Given the description of an element on the screen output the (x, y) to click on. 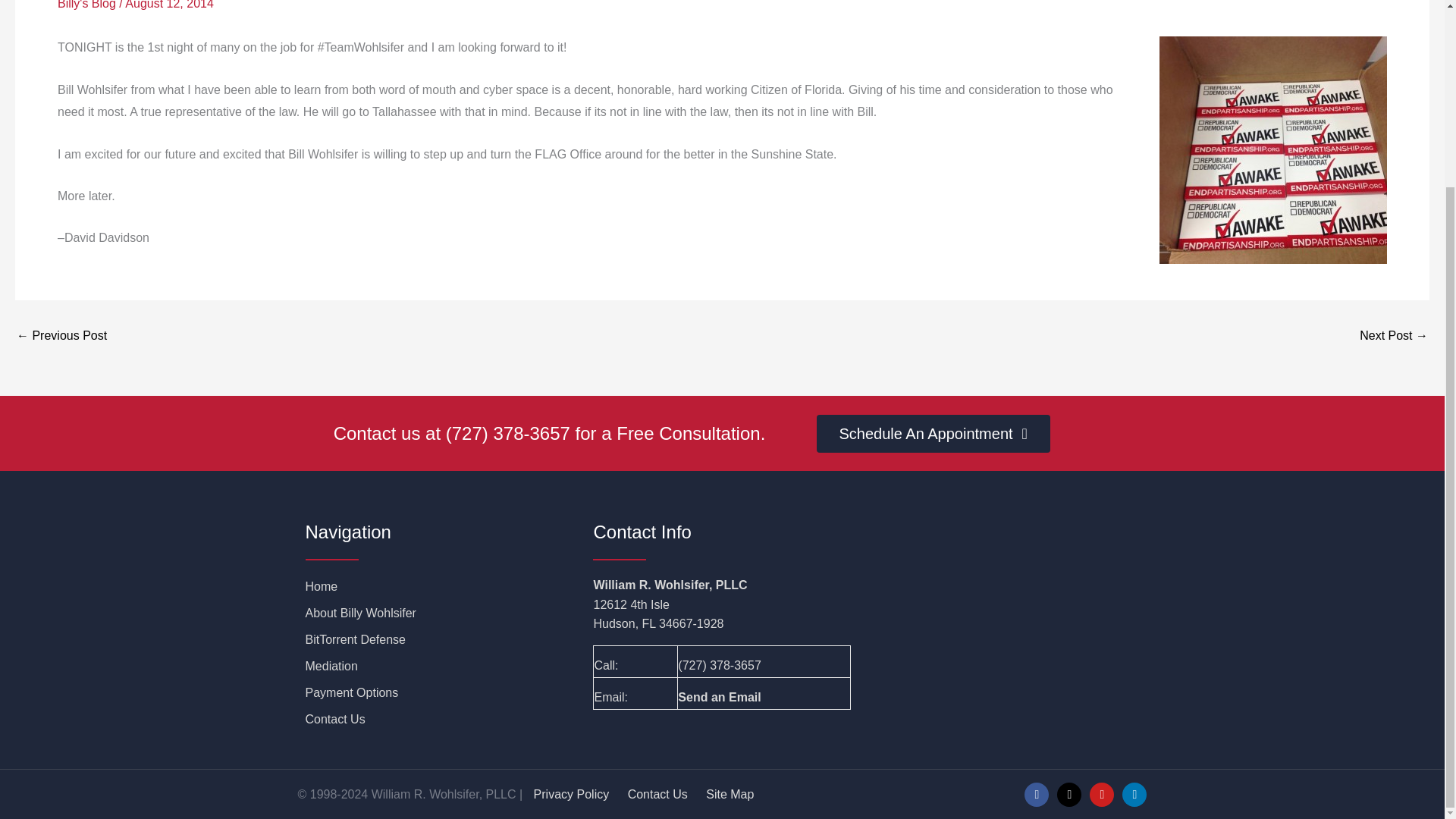
Schedule An Appointment (932, 433)
Contact Us (657, 794)
Billy's Blog (87, 4)
BitTorrent Defense (433, 639)
Send an Email (719, 697)
Facebook (1036, 794)
Home (433, 586)
Wohlsifer Answers the Call for Help (61, 336)
X-twitter (1069, 794)
About Billy Wohlsifer (433, 612)
Youtube (1101, 794)
Contact Us (433, 719)
Payment Options (433, 692)
Site Map (729, 794)
